Given the description of an element on the screen output the (x, y) to click on. 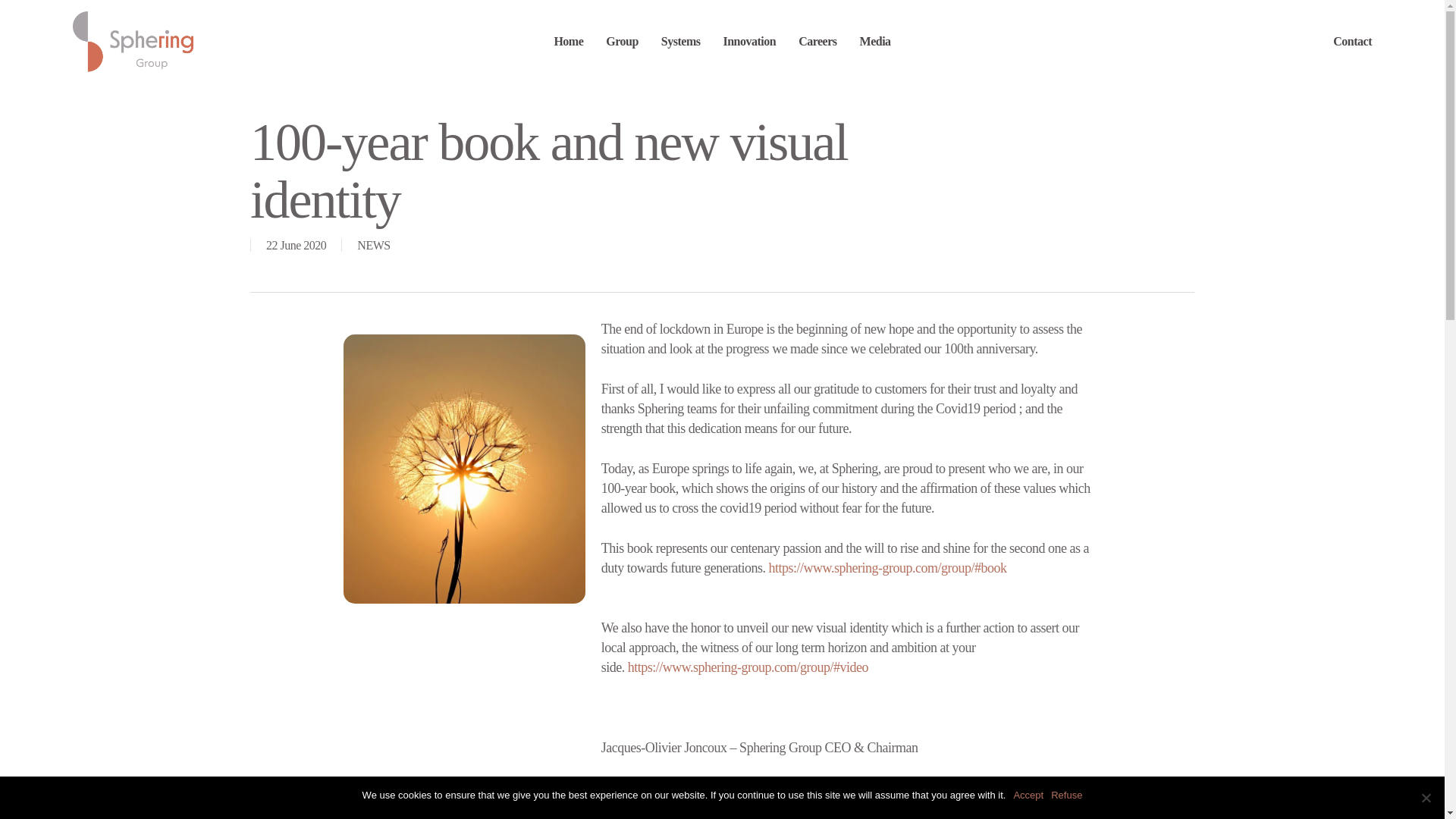
Innovation (749, 41)
Media (875, 41)
Contact (1352, 41)
Careers (816, 41)
Home (568, 41)
Refuse (1425, 797)
NEWS (373, 245)
Group (622, 41)
Systems (680, 41)
